Given the description of an element on the screen output the (x, y) to click on. 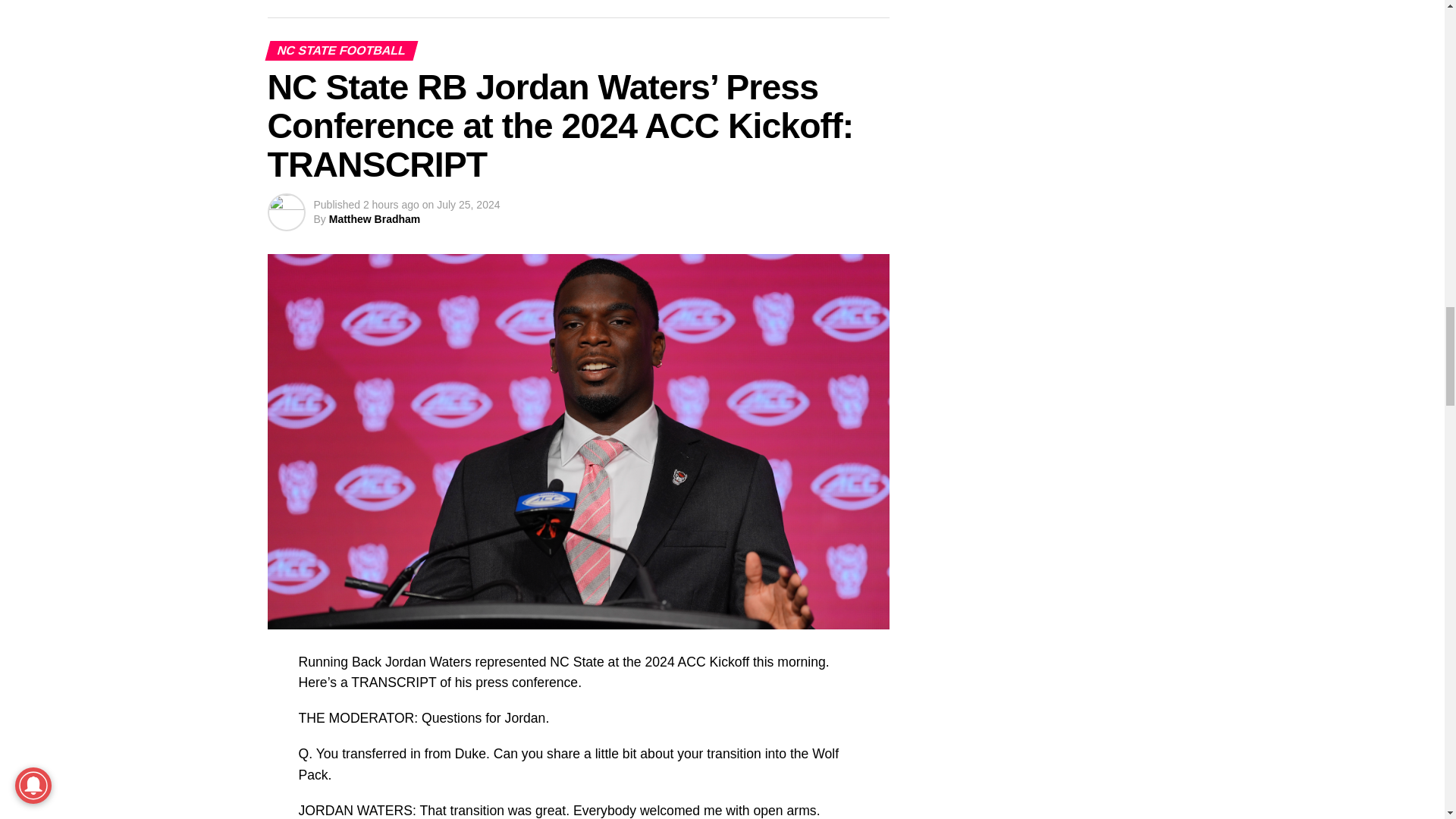
Posts by Matthew Bradham (374, 218)
